Given the description of an element on the screen output the (x, y) to click on. 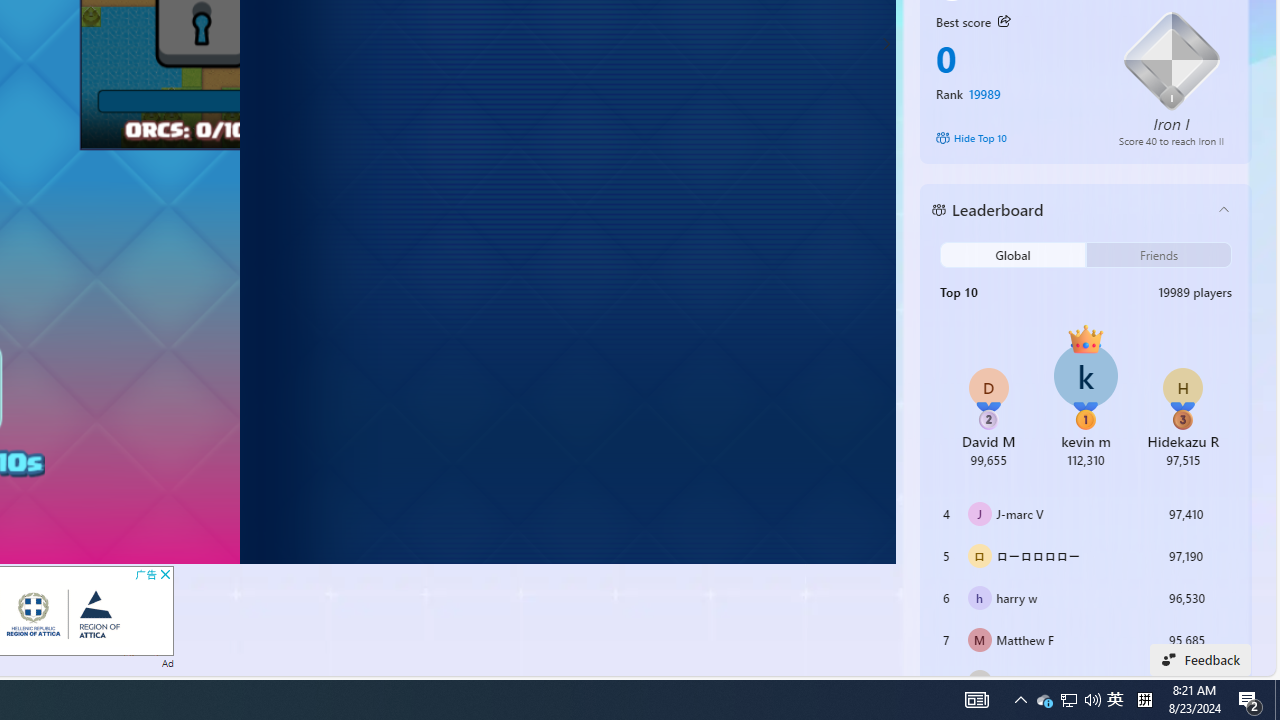
Ad (167, 661)
Class: control (885, 43)
Class: button (1004, 21)
Leaderboard (1069, 209)
Global (1012, 255)
Hide Top 10 (1014, 138)
AutomationID: cbb (164, 574)
Friends (1158, 255)
Feedback (1199, 659)
